Given the description of an element on the screen output the (x, y) to click on. 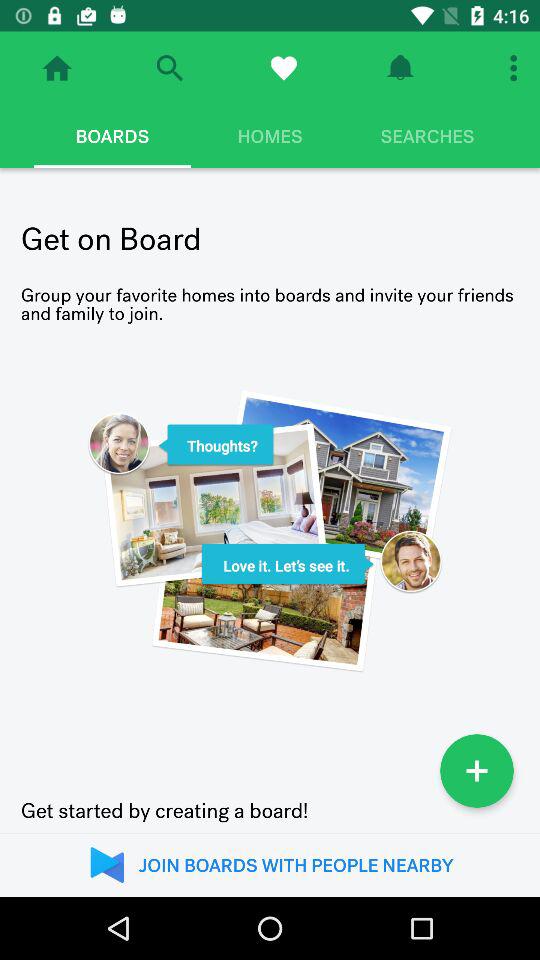
home (57, 68)
